Given the description of an element on the screen output the (x, y) to click on. 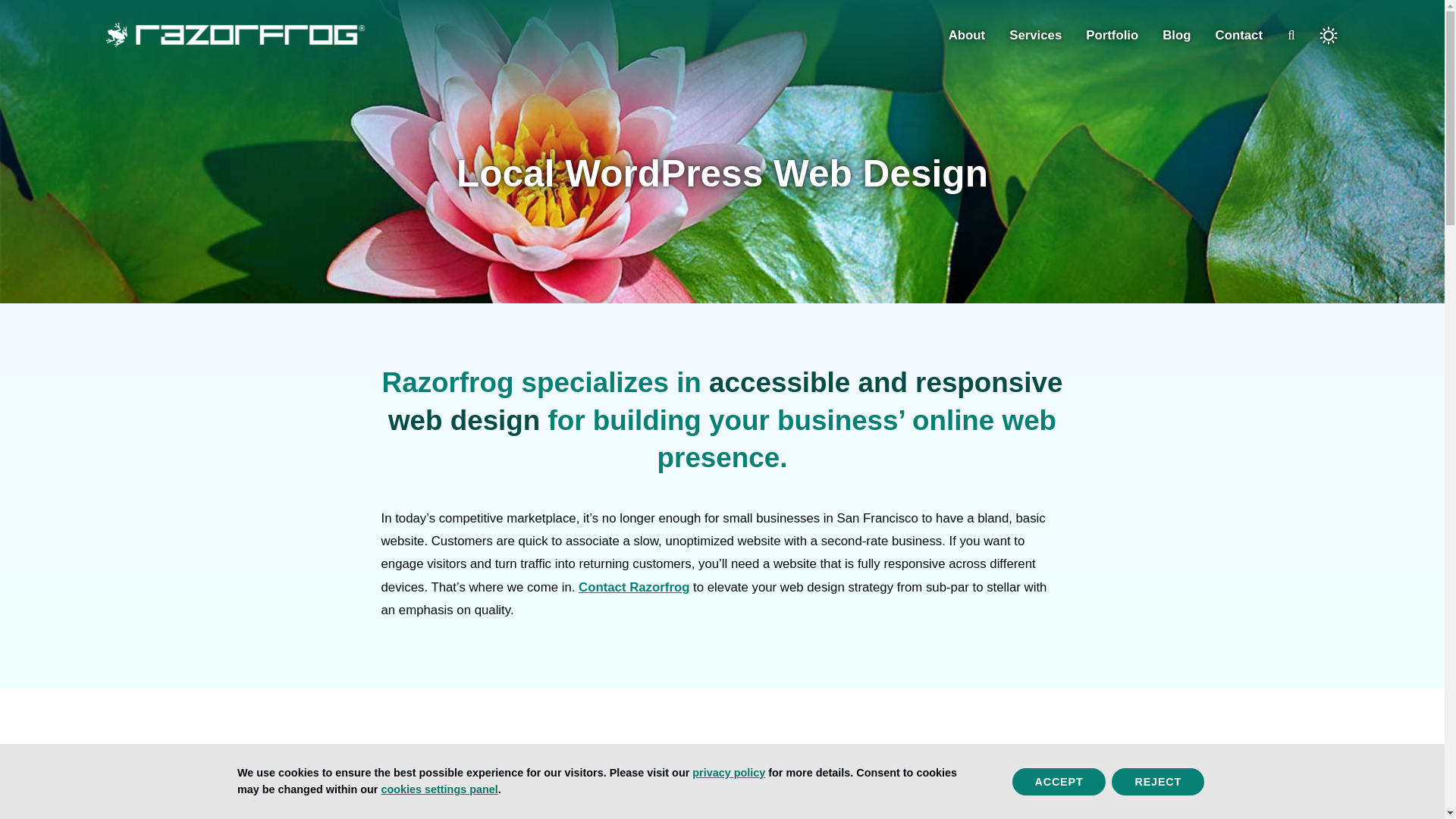
Blog (1176, 35)
Contact (1238, 35)
Portfolio (1112, 35)
About (967, 35)
Contact Razorfrog (633, 586)
Services (1035, 35)
